Given the description of an element on the screen output the (x, y) to click on. 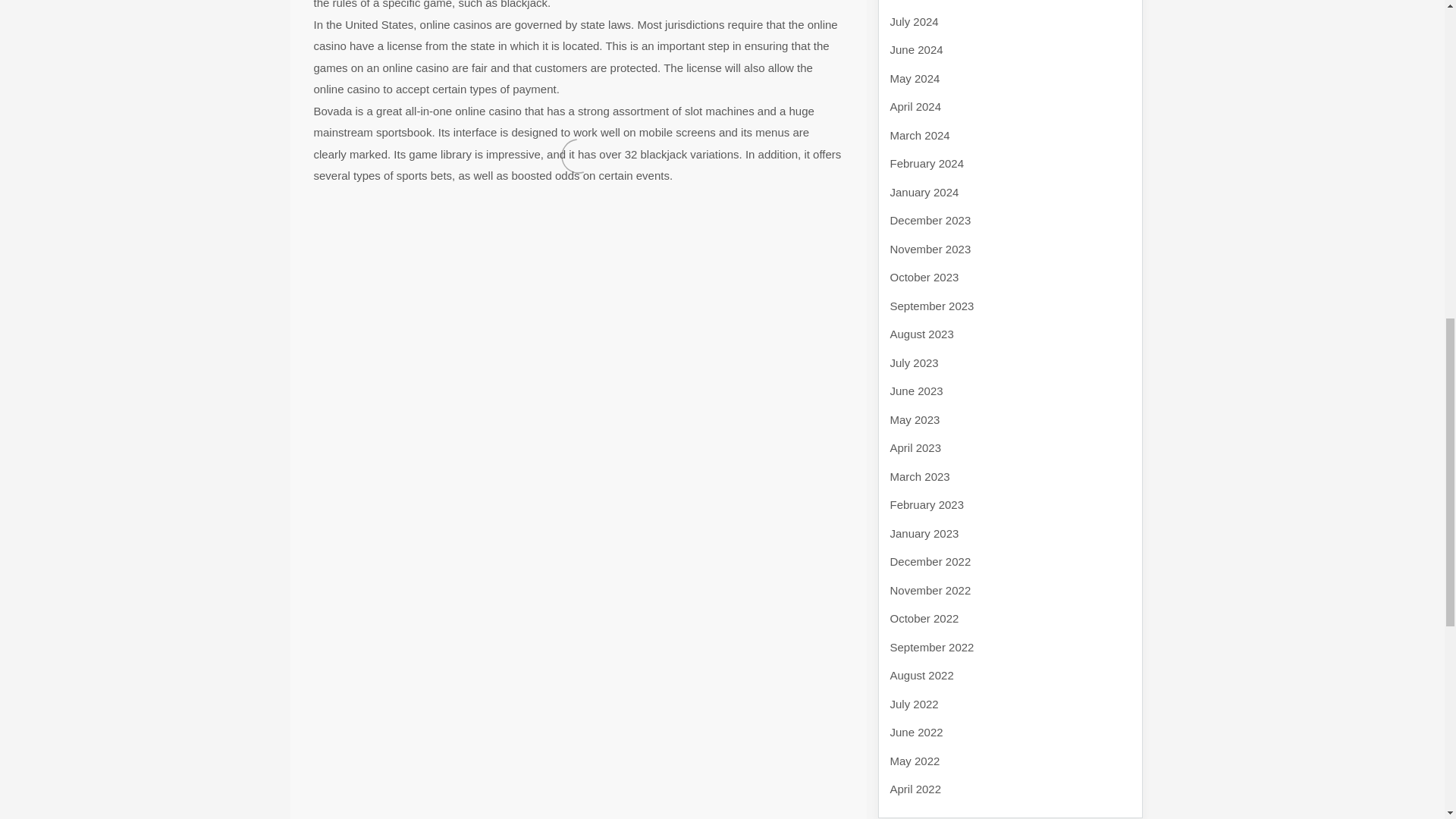
January 2024 (924, 191)
June 2022 (916, 731)
June 2024 (916, 49)
December 2023 (930, 219)
March 2023 (919, 476)
September 2023 (931, 305)
October 2023 (924, 277)
March 2024 (919, 134)
April 2022 (915, 788)
December 2022 (930, 561)
